Given the description of an element on the screen output the (x, y) to click on. 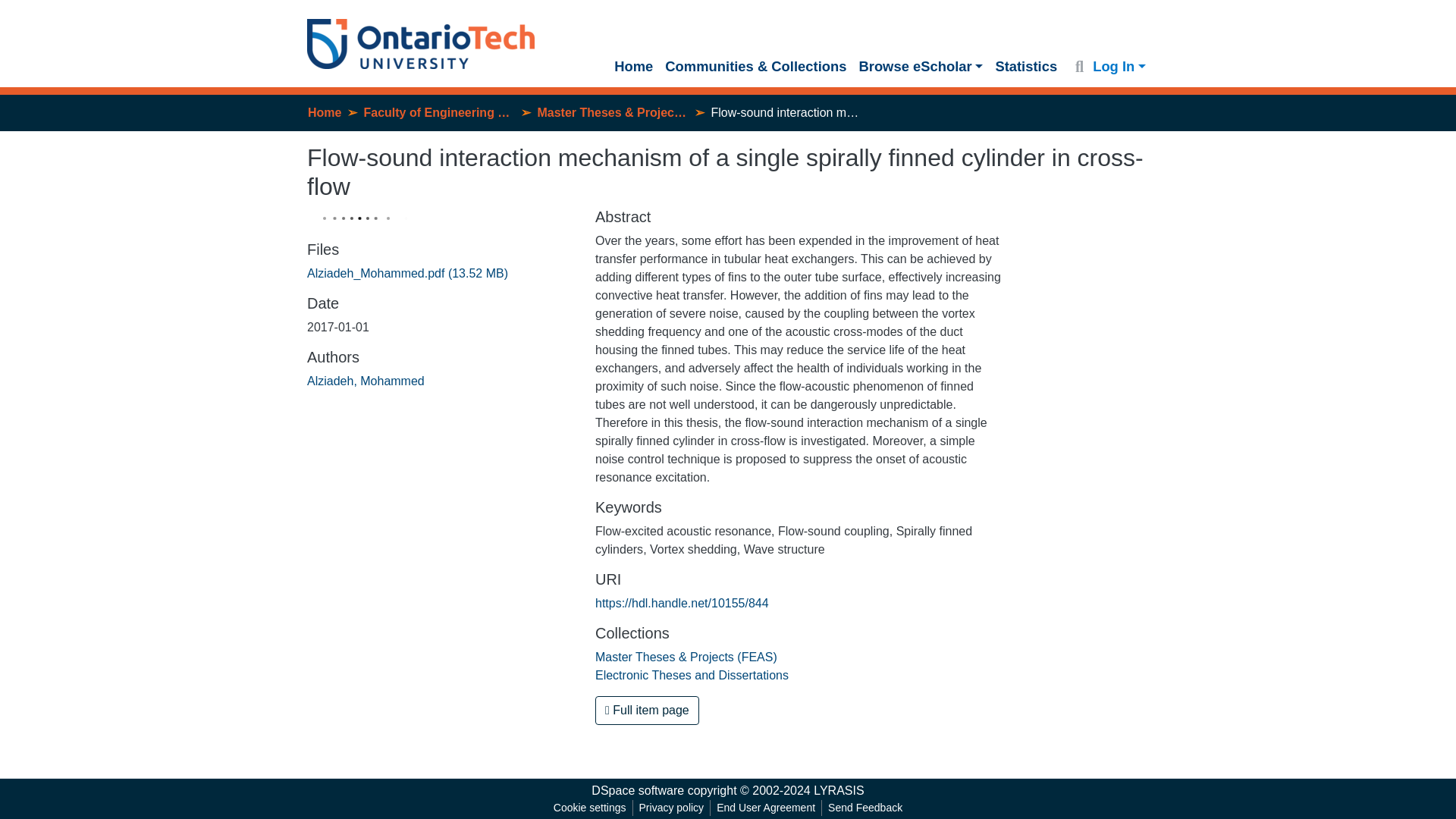
Full item page (646, 710)
Log In (1118, 66)
Electronic Theses and Dissertations (692, 675)
End User Agreement (765, 807)
DSpace software (637, 789)
Browse eScholar (919, 66)
Search (1078, 66)
Cookie settings (589, 807)
Alziadeh, Mohammed (366, 380)
Home (323, 113)
